Given the description of an element on the screen output the (x, y) to click on. 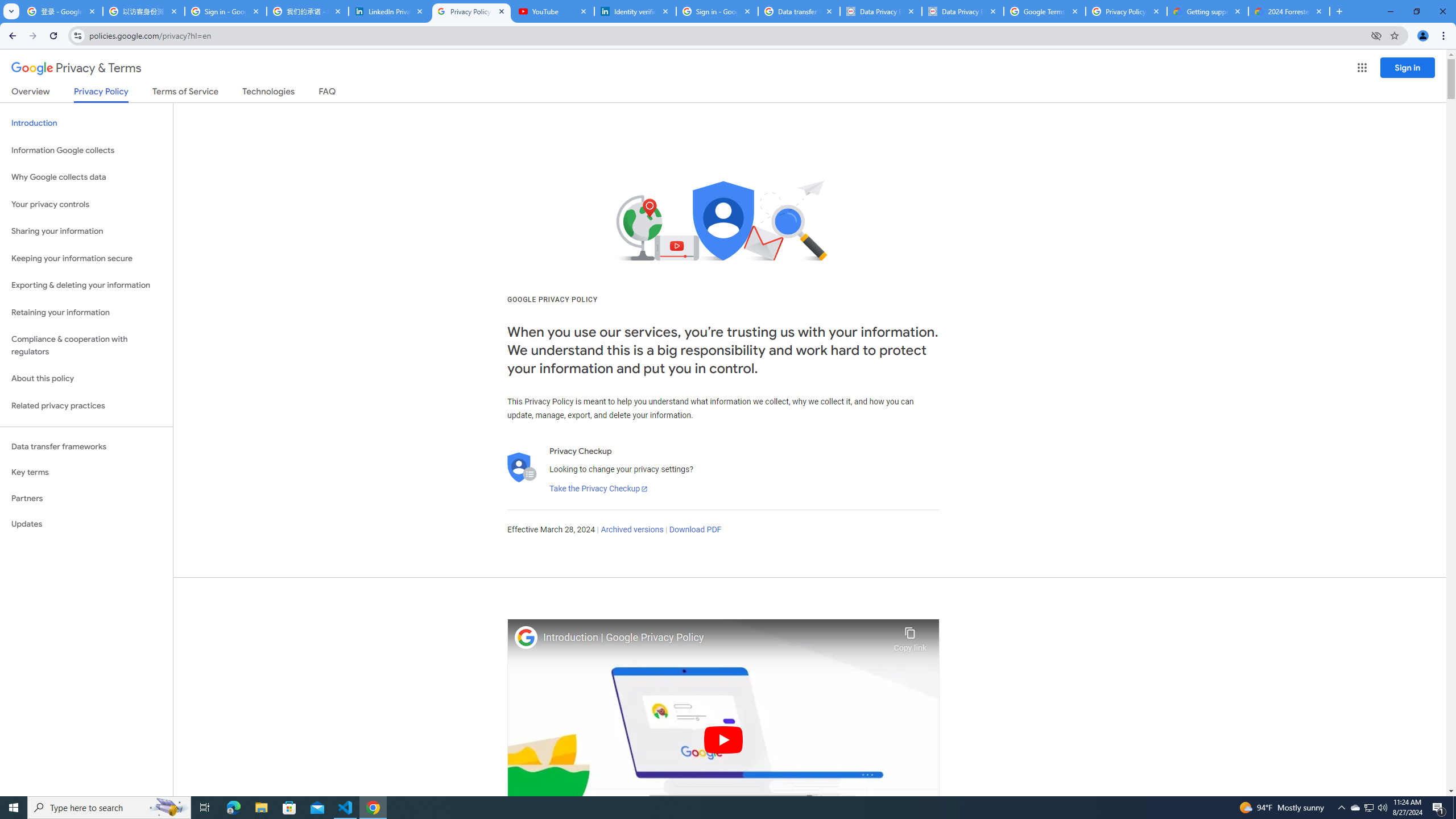
Copy link (909, 636)
Take the Privacy Checkup (597, 488)
